Given the description of an element on the screen output the (x, y) to click on. 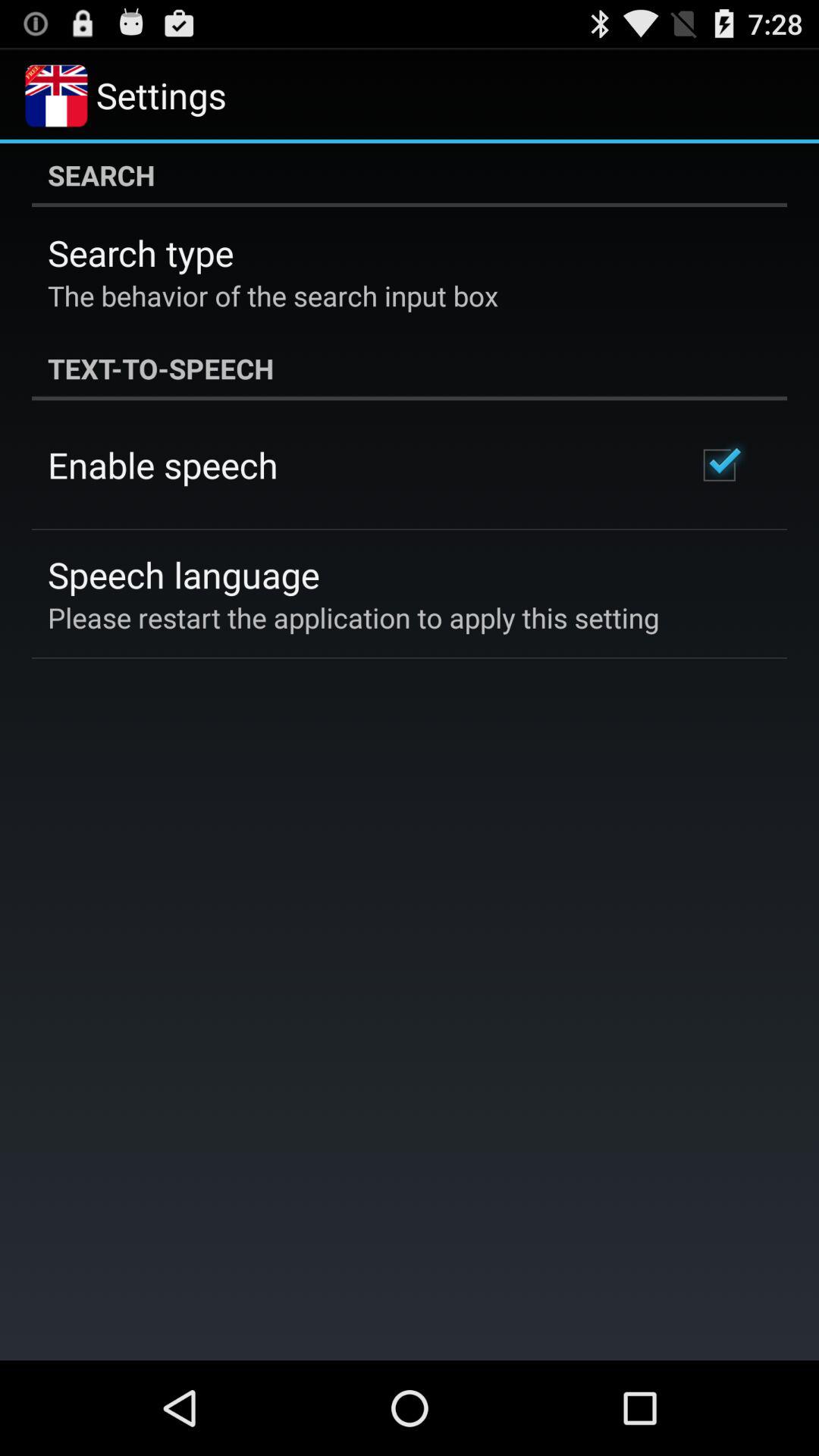
launch item next to enable speech icon (719, 465)
